Given the description of an element on the screen output the (x, y) to click on. 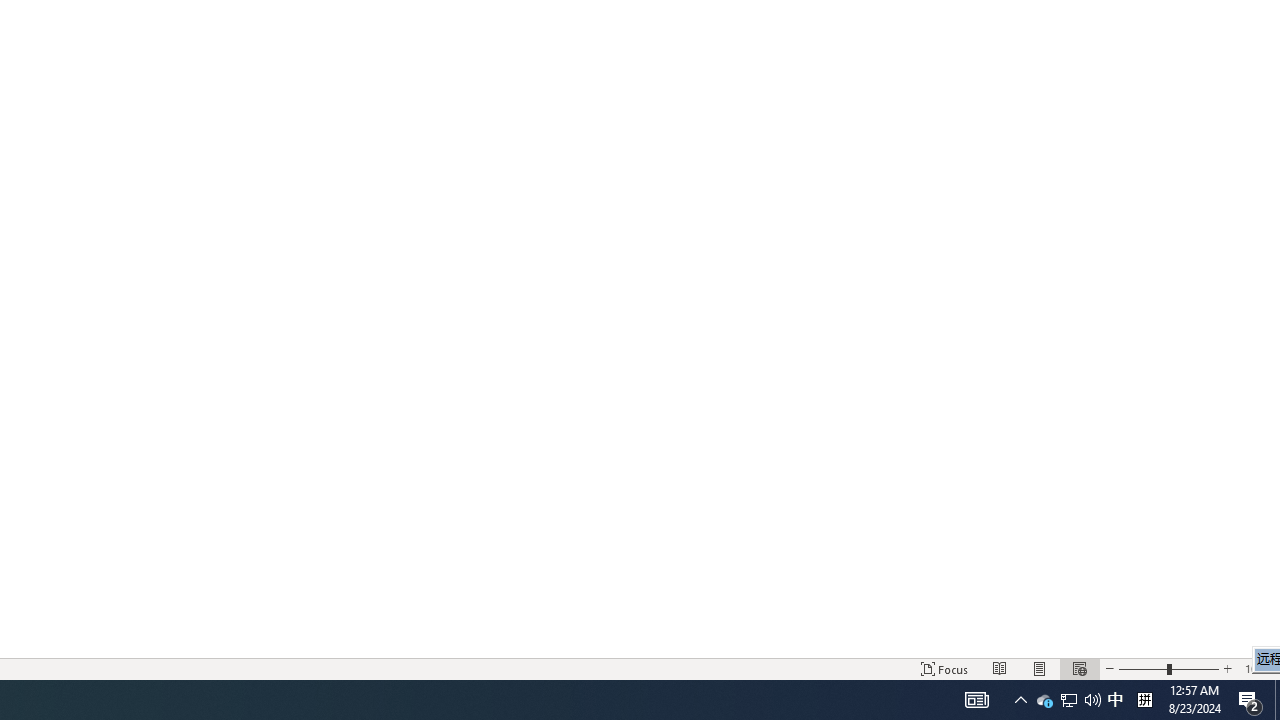
Zoom 100% (1258, 668)
